Given the description of an element on the screen output the (x, y) to click on. 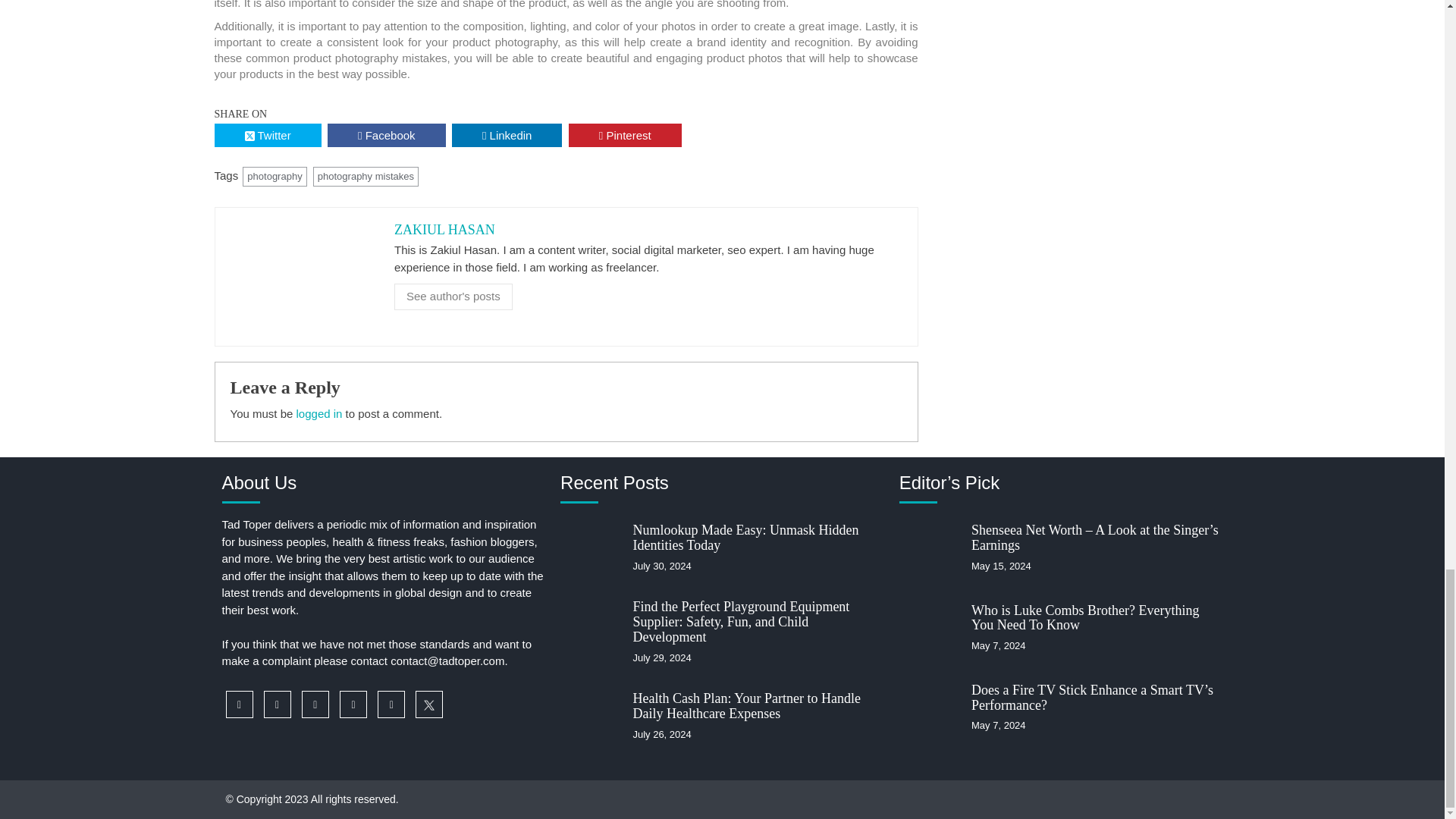
photography mistakes (366, 176)
Facebook (386, 135)
Pinterest (625, 135)
Linkedin (506, 135)
photography (274, 176)
Twitter (267, 135)
